Given the description of an element on the screen output the (x, y) to click on. 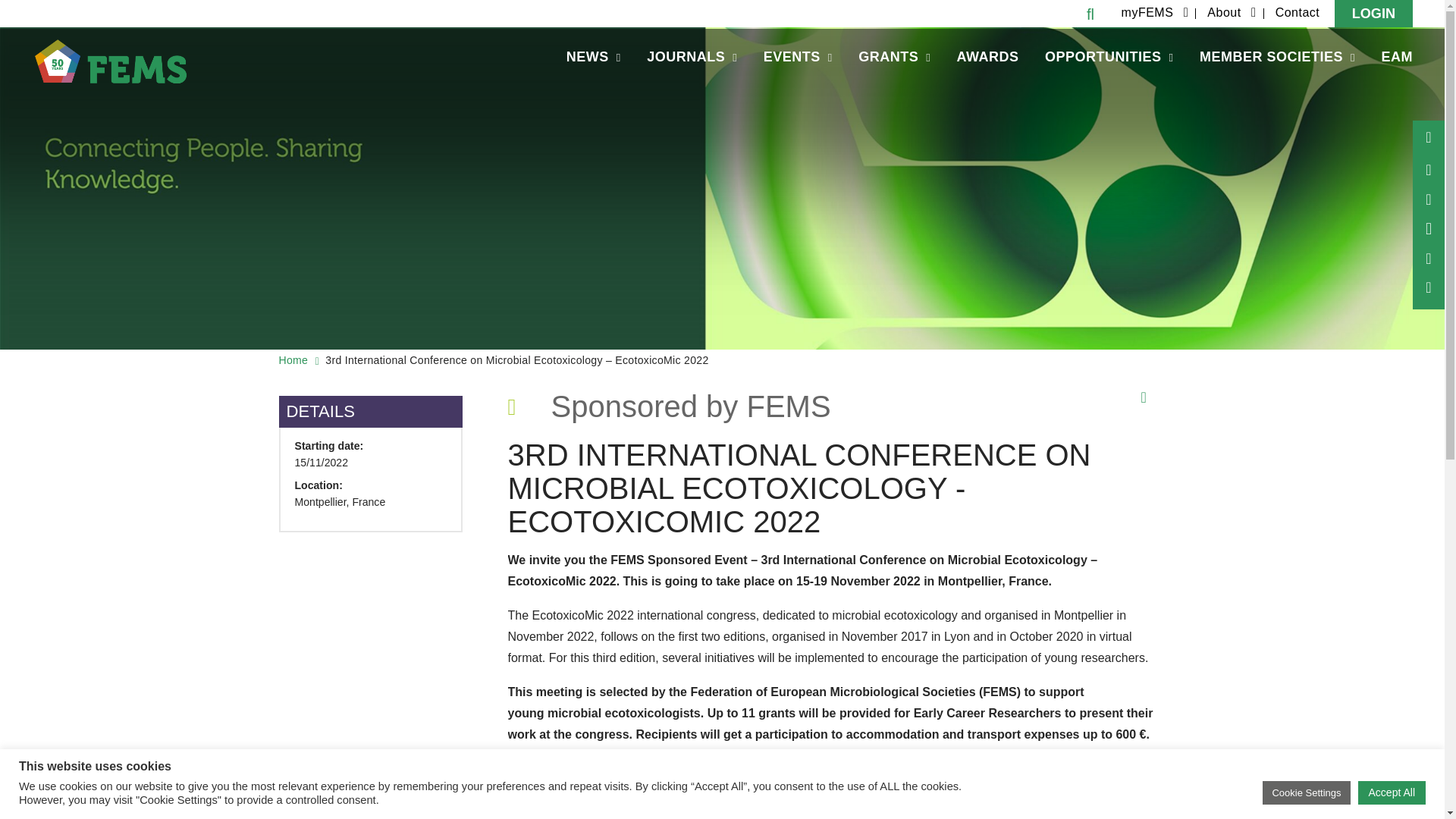
JOURNALS (691, 56)
NEWS (592, 56)
GRANTS (894, 56)
OPPORTUNITIES (1109, 56)
EVENTS (798, 56)
AWARDS (987, 56)
